Given the description of an element on the screen output the (x, y) to click on. 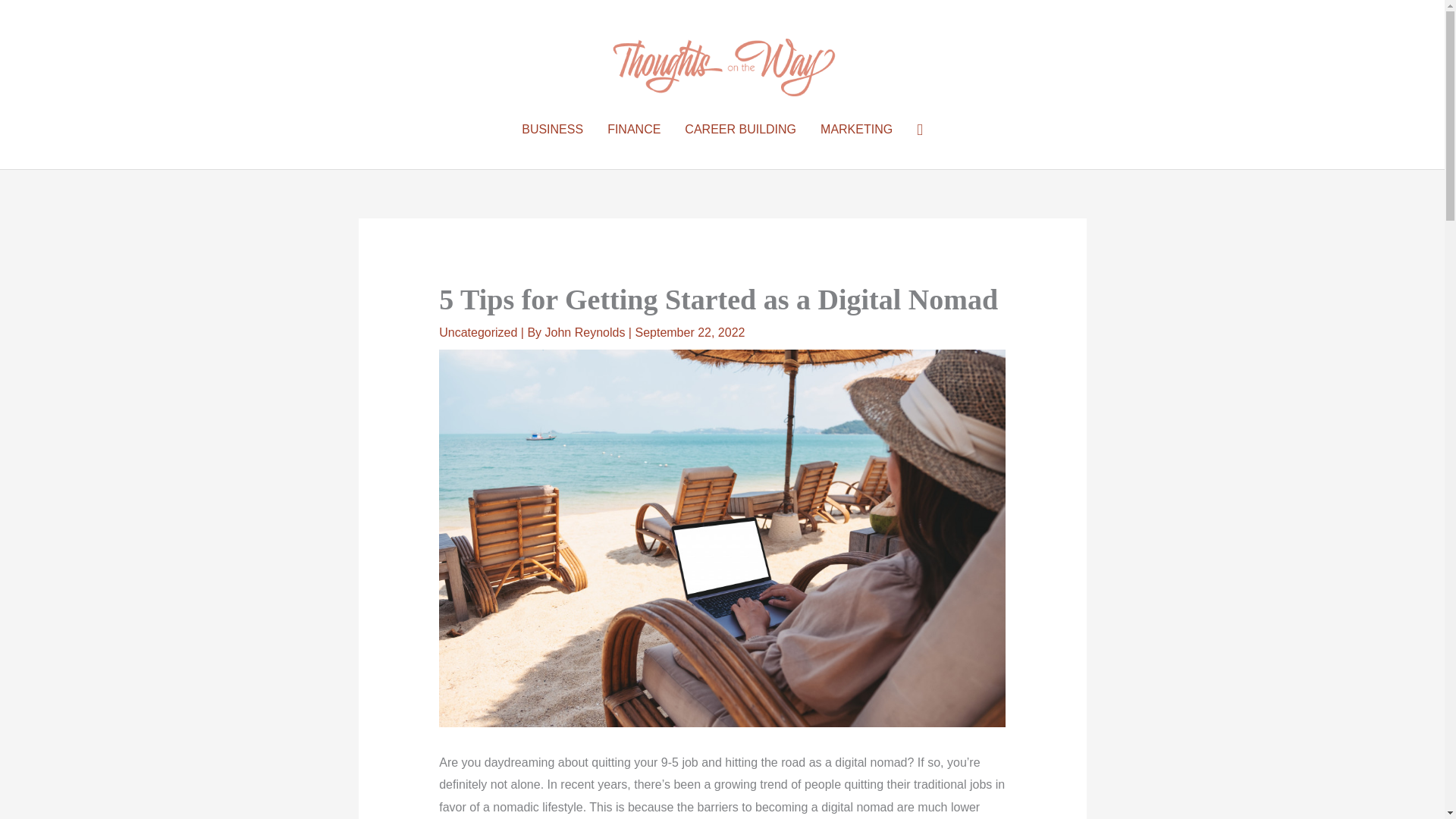
BUSINESS (552, 129)
Uncategorized (477, 332)
MARKETING (856, 129)
FINANCE (633, 129)
View all posts by John Reynolds (586, 332)
John Reynolds (586, 332)
CAREER BUILDING (740, 129)
